Given the description of an element on the screen output the (x, y) to click on. 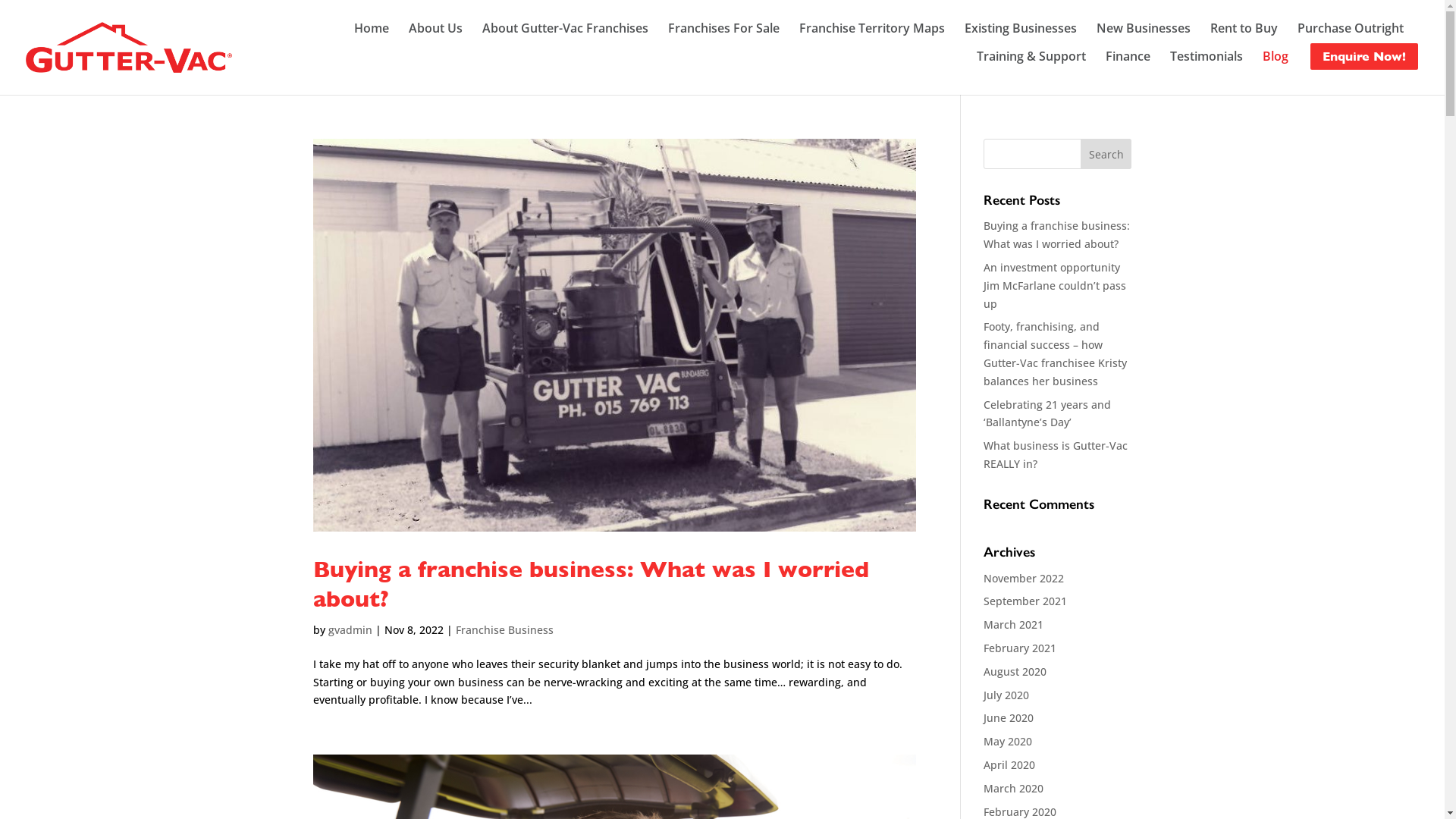
Testimonials Element type: text (1206, 59)
August 2020 Element type: text (1014, 671)
March 2020 Element type: text (1013, 788)
gvadmin Element type: text (349, 629)
March 2021 Element type: text (1013, 624)
November 2022 Element type: text (1023, 578)
May 2020 Element type: text (1007, 741)
June 2020 Element type: text (1008, 717)
Search Element type: text (1106, 153)
April 2020 Element type: text (1009, 764)
Home Element type: text (371, 31)
Rent to Buy Element type: text (1243, 31)
What business is Gutter-Vac REALLY in? Element type: text (1055, 454)
Finance Element type: text (1127, 59)
Franchises For Sale Element type: text (723, 31)
Existing Businesses Element type: text (1020, 31)
Training & Support Element type: text (1030, 59)
Enquire Now! Element type: text (1364, 56)
February 2021 Element type: text (1019, 647)
February 2020 Element type: text (1019, 810)
Purchase Outright Element type: text (1350, 31)
Blog Element type: text (1275, 59)
Buying a franchise business: What was I worried about? Element type: text (590, 583)
About Us Element type: text (435, 31)
Buying a franchise business: What was I worried about? Element type: text (1056, 234)
New Businesses Element type: text (1143, 31)
September 2021 Element type: text (1024, 600)
Franchise Business Element type: text (503, 629)
July 2020 Element type: text (1006, 694)
Franchise Territory Maps Element type: text (871, 31)
About Gutter-Vac Franchises Element type: text (565, 31)
